Given the description of an element on the screen output the (x, y) to click on. 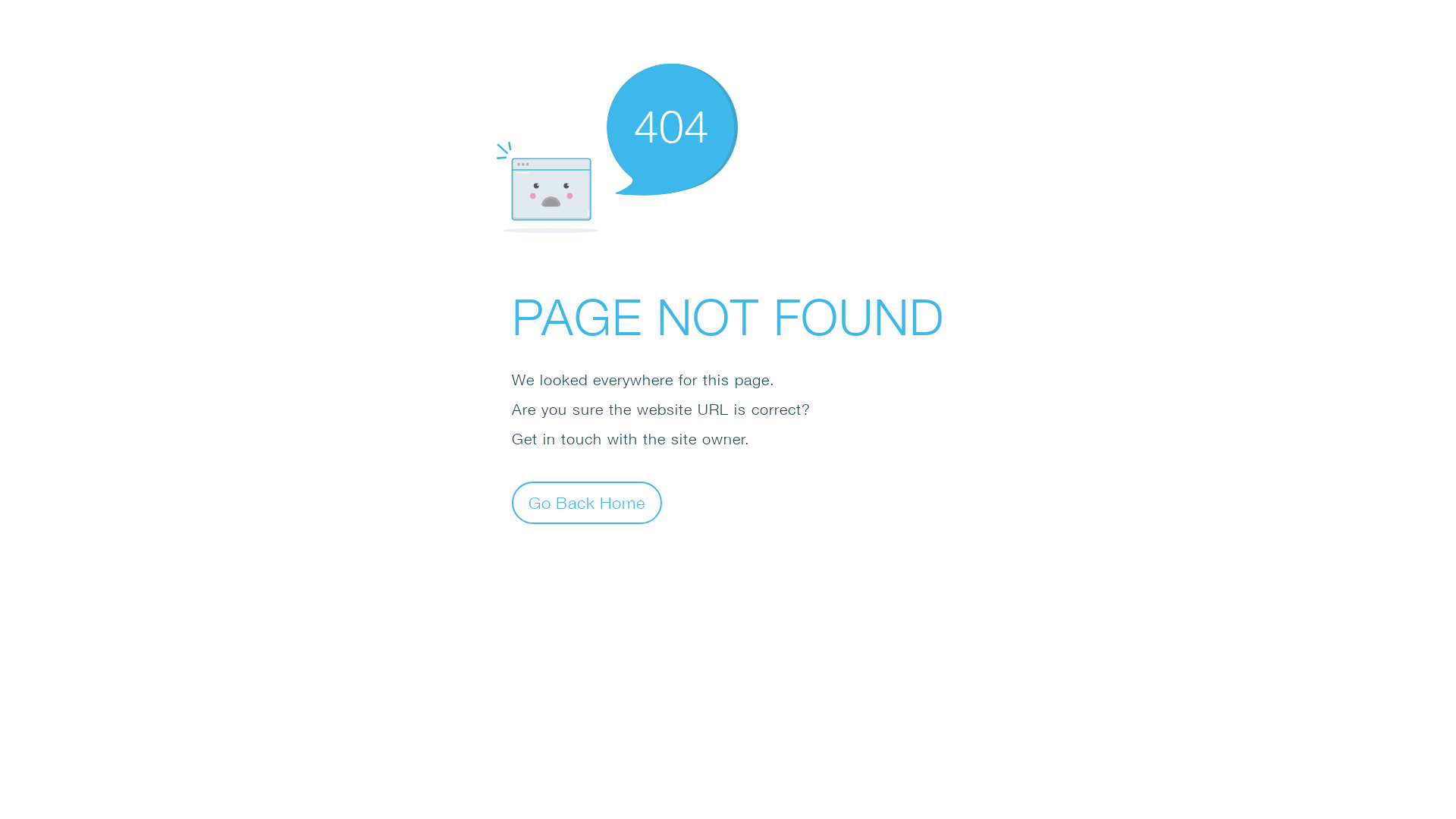
Go Back Home Element type: text (586, 502)
